Given the description of an element on the screen output the (x, y) to click on. 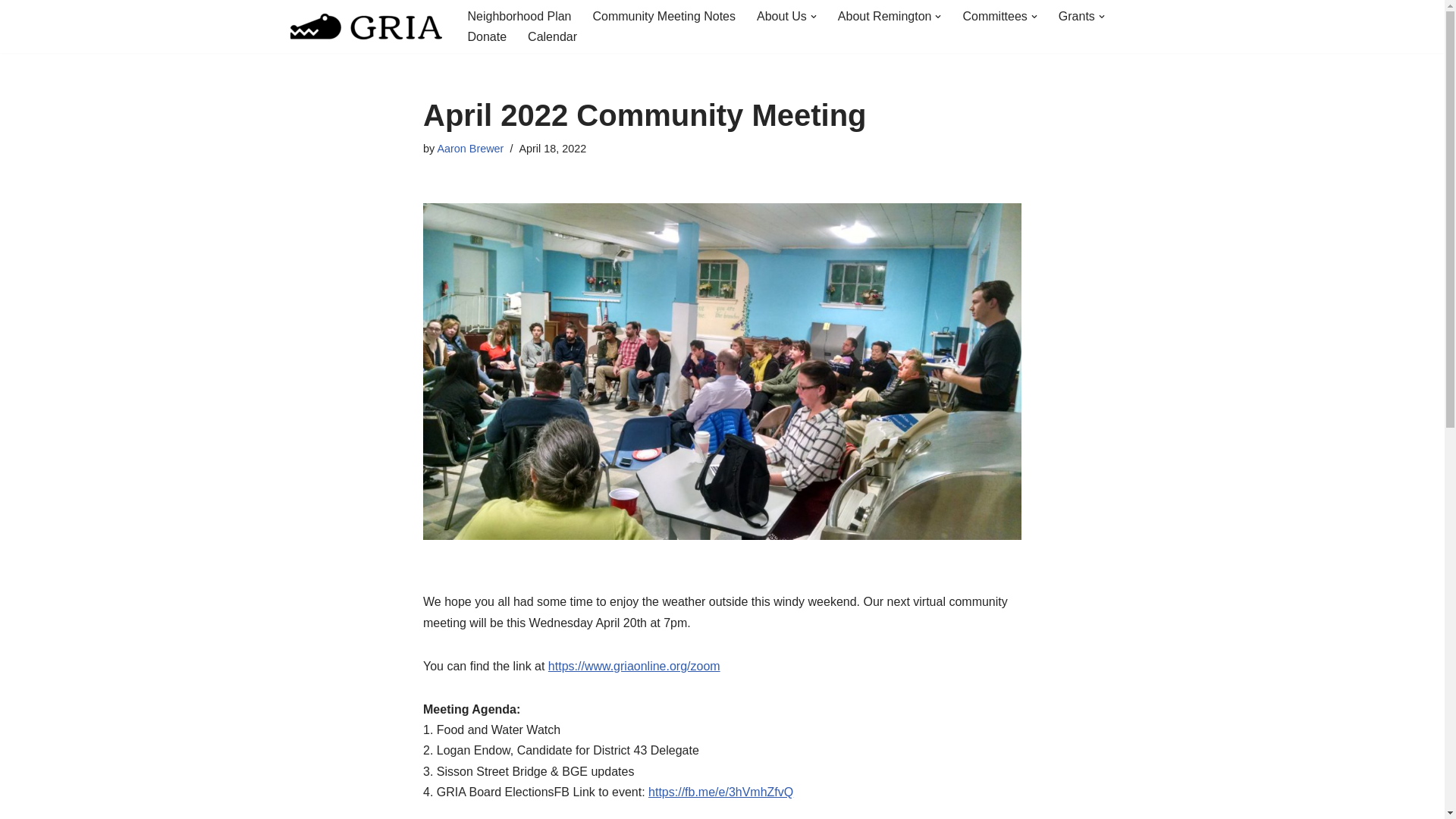
Neighborhood Plan (518, 15)
About Remington (884, 15)
Skip to content (11, 31)
Committees (994, 15)
Grants (1076, 15)
Donate (486, 36)
About Us (781, 15)
Posts by Aaron Brewer (469, 148)
Community Meeting Notes (664, 15)
Calendar (551, 36)
